Given the description of an element on the screen output the (x, y) to click on. 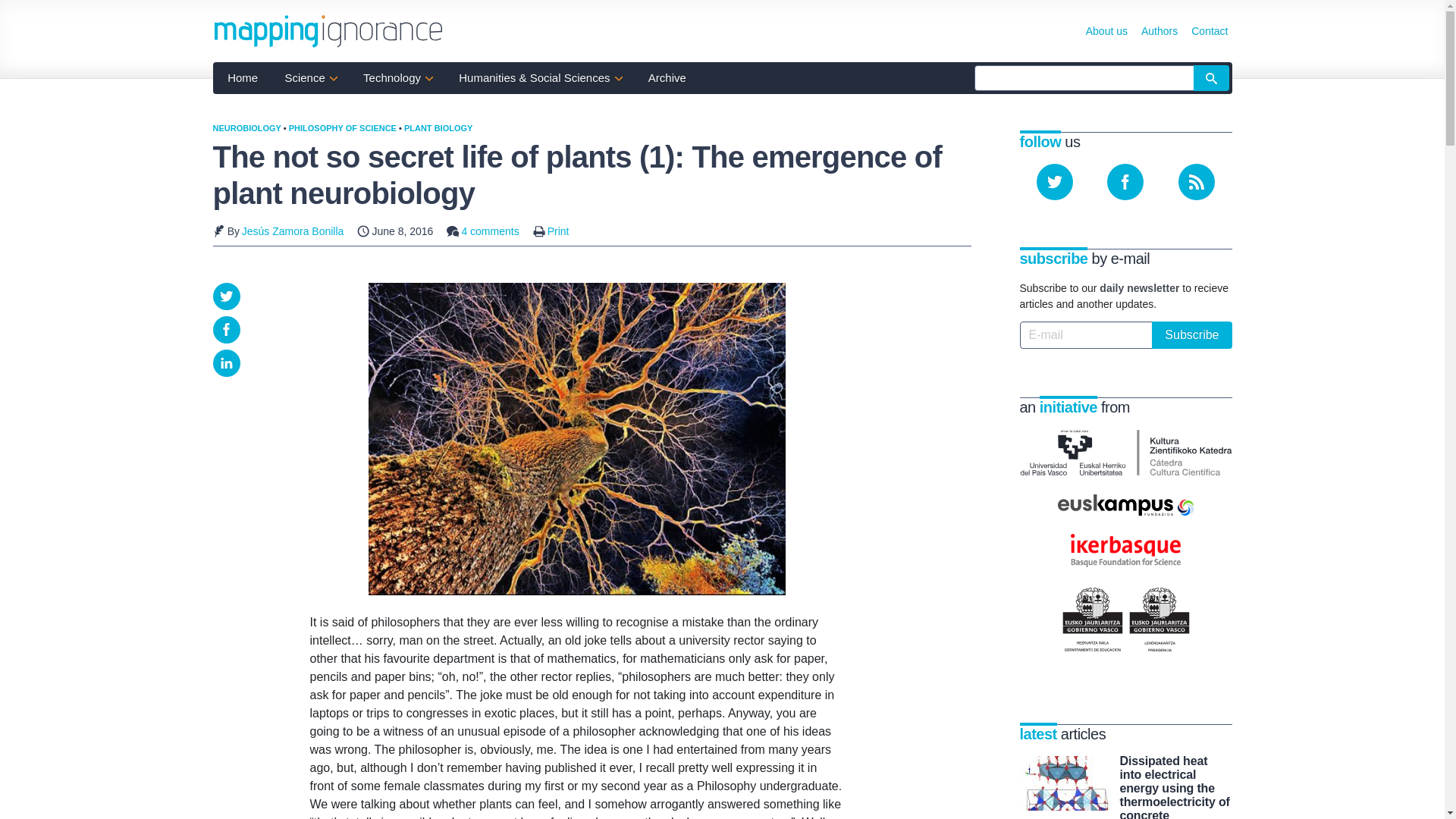
Home (242, 77)
Science (311, 77)
Technology (397, 77)
